Given the description of an element on the screen output the (x, y) to click on. 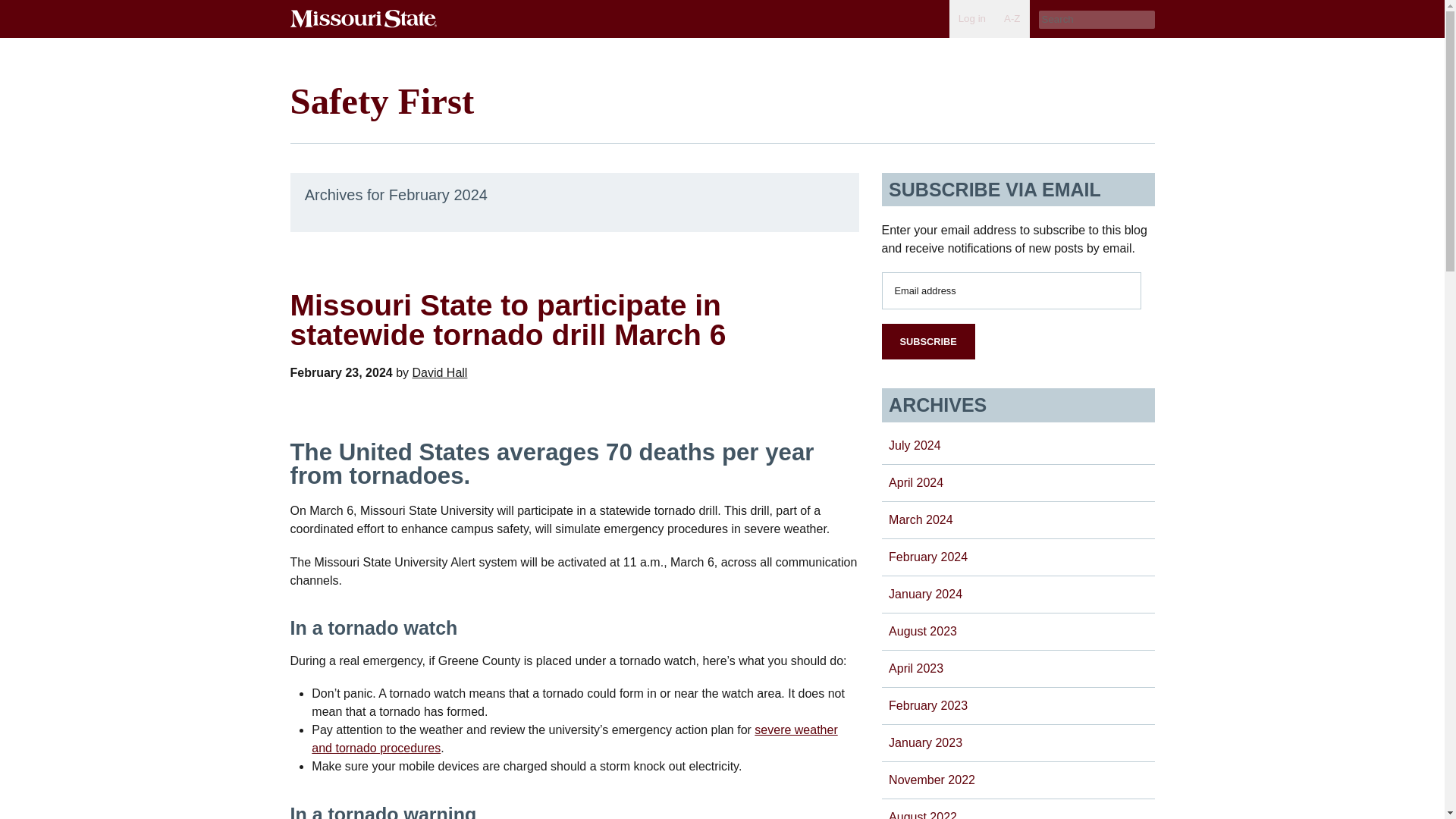
David Hall (439, 372)
Log in (971, 18)
severe weather and tornado procedures (574, 738)
Safety First (381, 101)
A-Z (1011, 18)
